Given the description of an element on the screen output the (x, y) to click on. 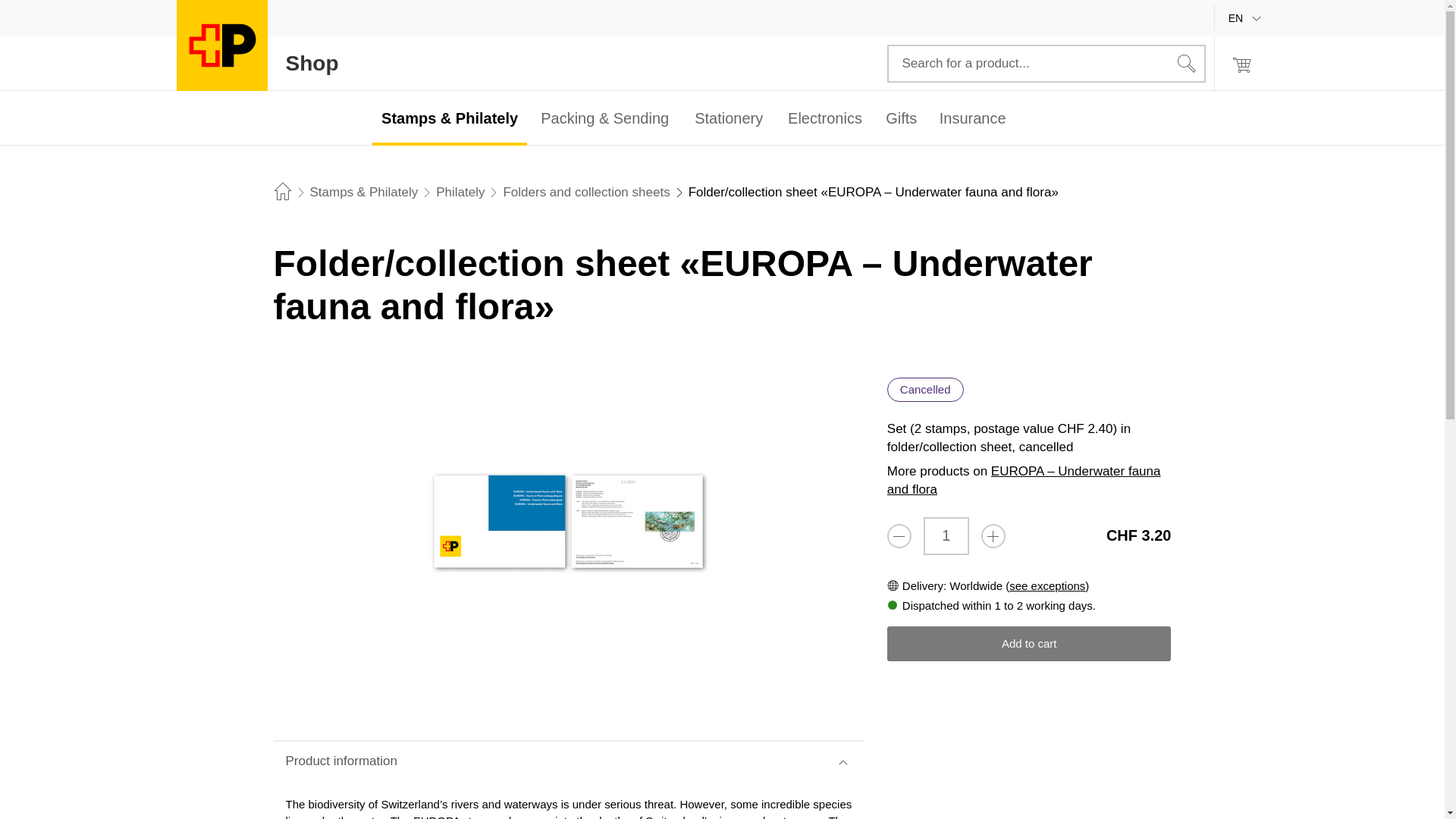
Gifts (900, 117)
Insurance (971, 117)
Electronics (824, 117)
Stationery (728, 117)
Electronics (256, 63)
Stationery (825, 117)
1 (728, 117)
